Given the description of an element on the screen output the (x, y) to click on. 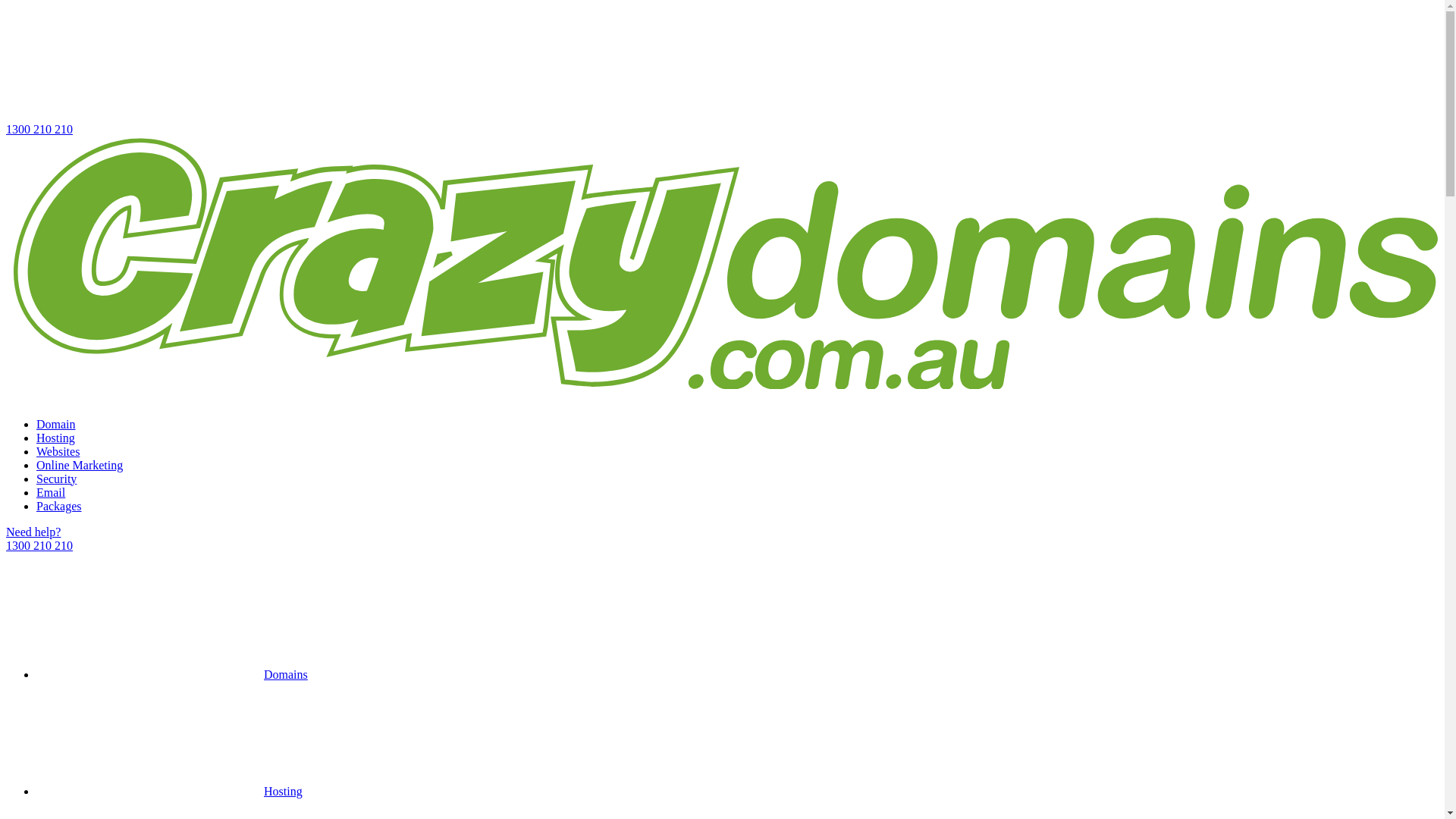
Hosting Element type: text (169, 790)
1300 210 210 Element type: text (722, 70)
Packages Element type: text (58, 505)
Domain Element type: text (55, 423)
Hosting Element type: text (55, 437)
Online Marketing Element type: text (79, 464)
Need help?
1300 210 210 Element type: text (722, 538)
Websites Element type: text (57, 451)
Email Element type: text (50, 492)
Domains Element type: text (171, 674)
Security Element type: text (56, 478)
